Given the description of an element on the screen output the (x, y) to click on. 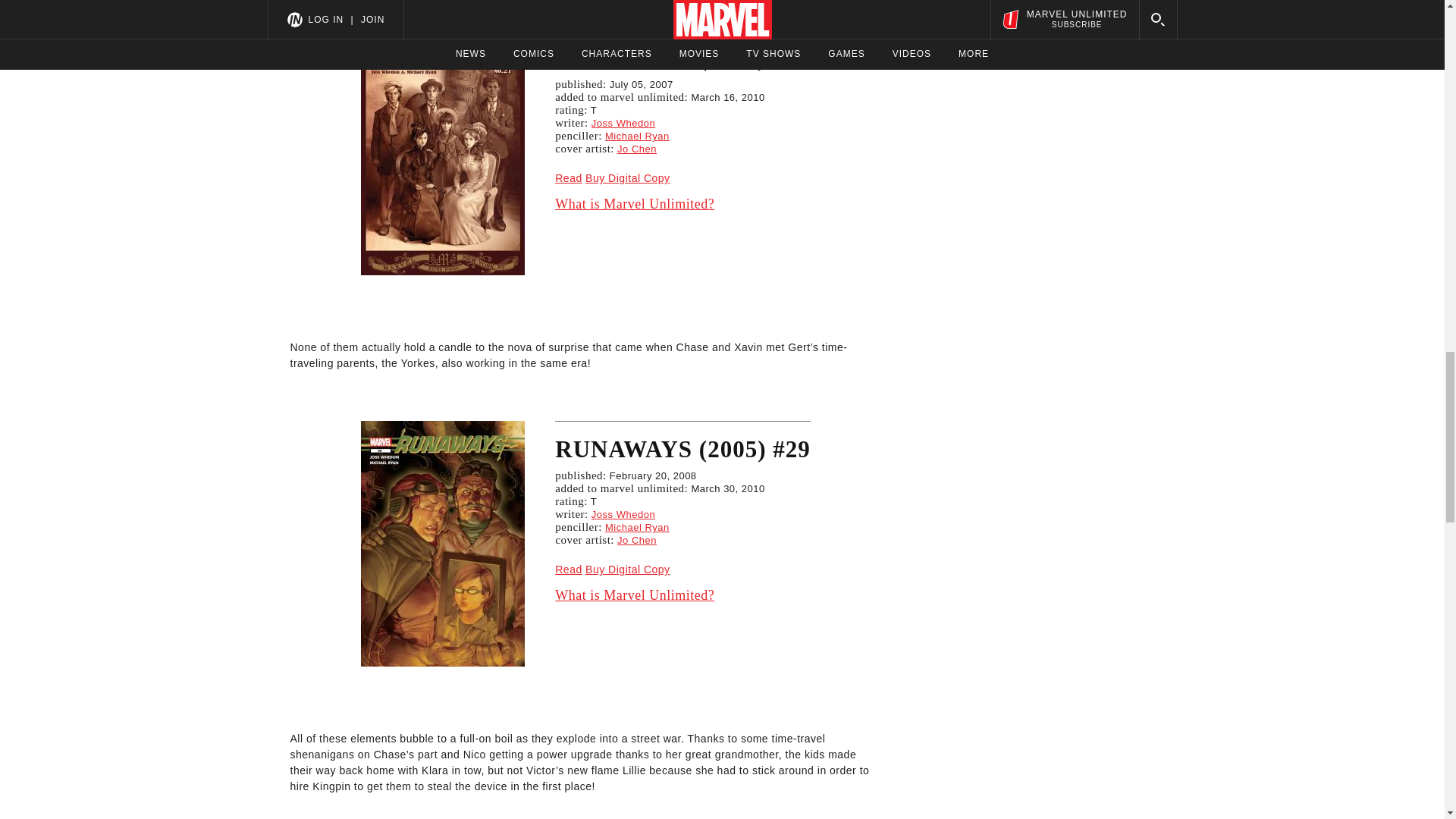
Michael Ryan (637, 135)
Jo Chen (636, 148)
Joss Whedon (623, 122)
Read (567, 177)
Buy Digital Copy (627, 177)
